Given the description of an element on the screen output the (x, y) to click on. 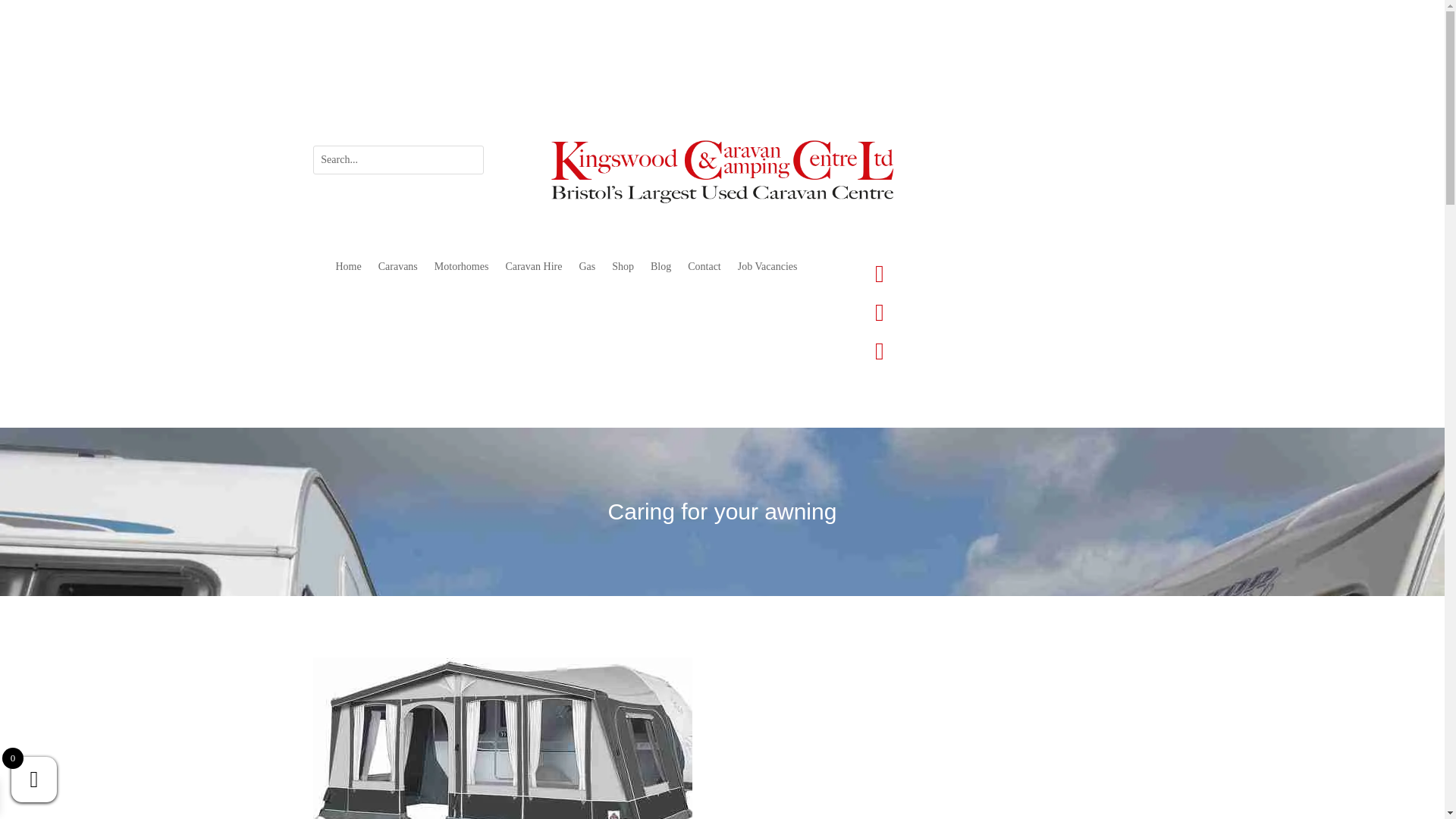
Caring For Your Awning (502, 737)
Opening Hours (762, 71)
Caravan Hire (533, 269)
Camping and caravan Blog (660, 269)
Caravans (397, 269)
Motorhome sales (461, 269)
Caravan Hire (533, 269)
How to find us (681, 71)
Enquiries (939, 309)
Contact (703, 269)
